Given the description of an element on the screen output the (x, y) to click on. 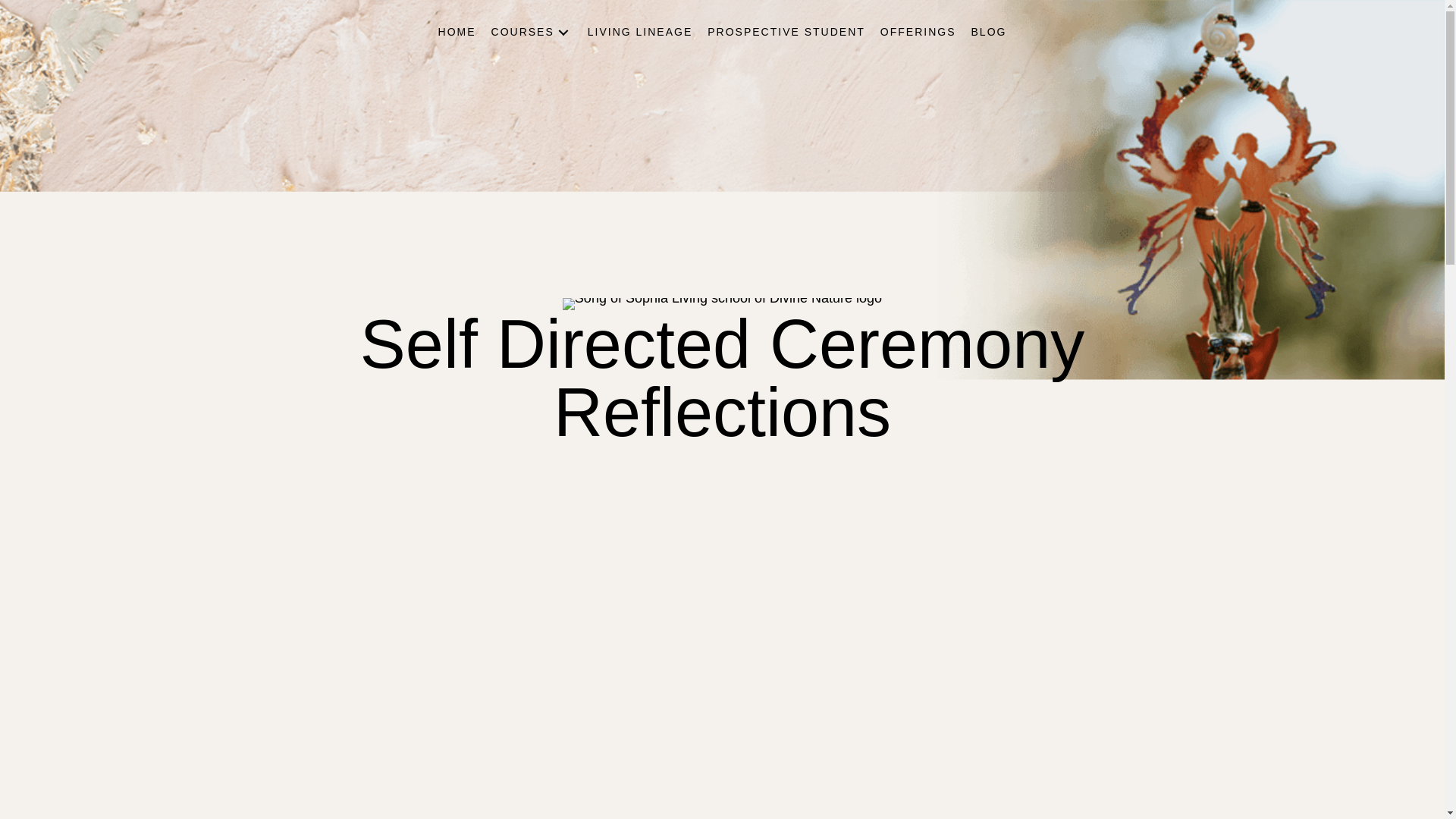
OFFERINGS (917, 32)
COURSES (531, 32)
PROSPECTIVE STUDENT (786, 32)
BLOG (988, 32)
4976 Song Of Sophia Logo-02 (722, 304)
HOME (456, 32)
LIVING LINEAGE (639, 32)
